Given the description of an element on the screen output the (x, y) to click on. 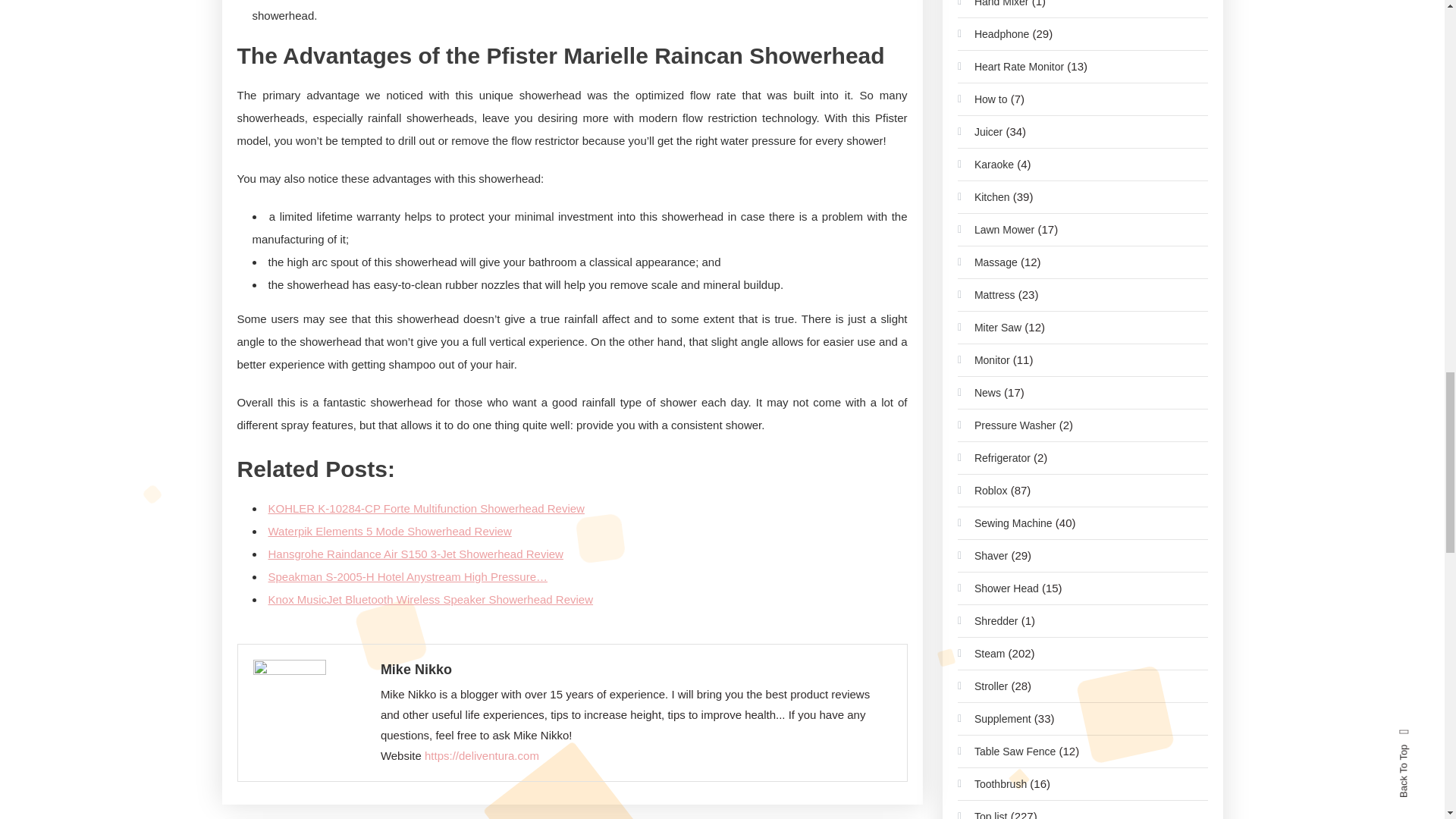
Posts by Mike Nikko (635, 670)
Waterpik Elements 5 Mode Showerhead Review (389, 530)
Hansgrohe Raindance Air S150 3-Jet Showerhead Review (415, 553)
Knox MusicJet Bluetooth Wireless Speaker Showerhead Review (430, 599)
Mike Nikko (635, 670)
KOHLER K-10284-CP Forte Multifunction Showerhead Review (426, 508)
